Given the description of an element on the screen output the (x, y) to click on. 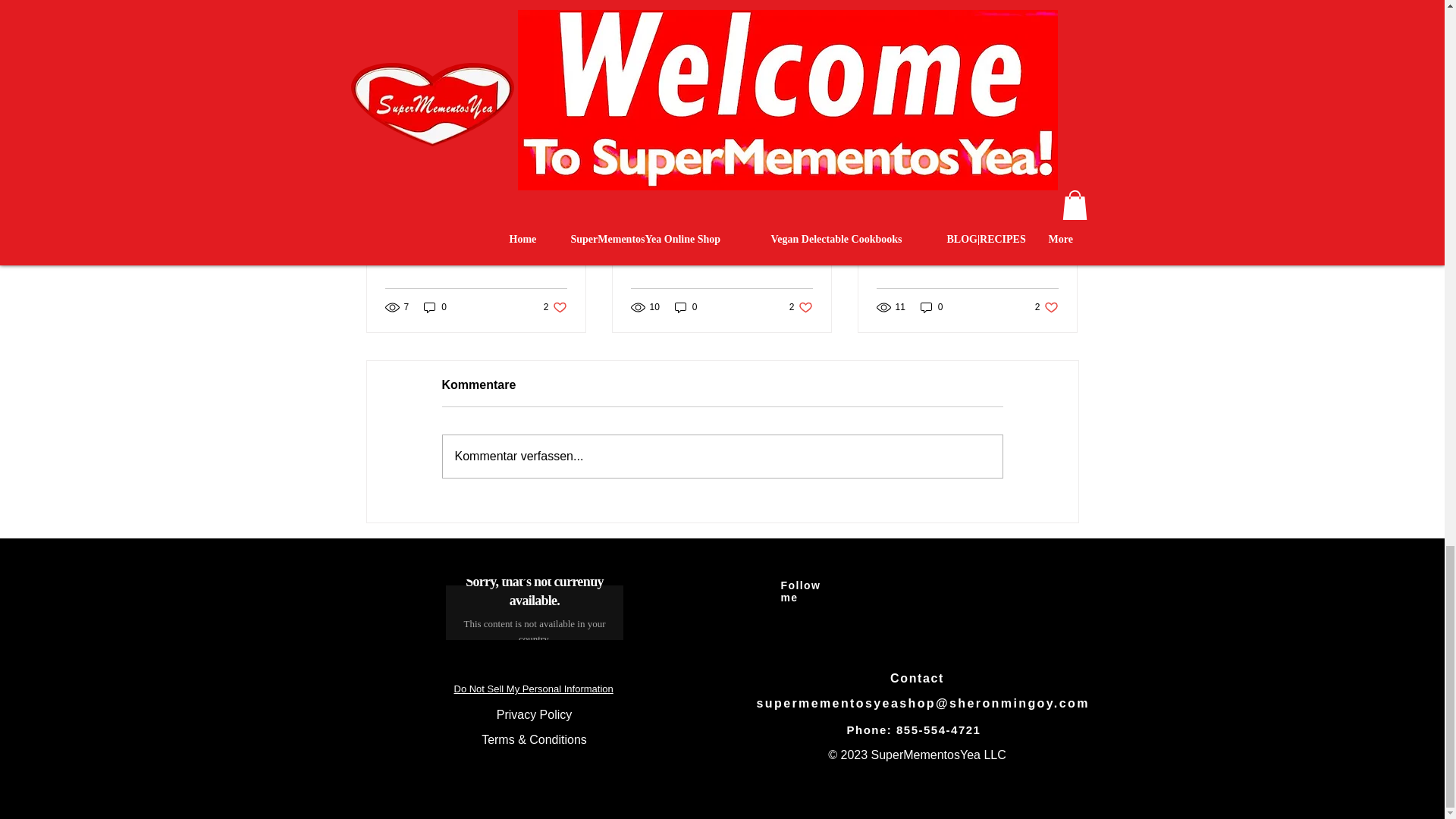
0 (931, 307)
Spotify Player (533, 609)
0 (555, 307)
Spotify Player (435, 307)
0 (533, 610)
Kommentar verfassen... (800, 307)
See All (1046, 307)
Do Not Sell My Personal Information (685, 307)
